Given the description of an element on the screen output the (x, y) to click on. 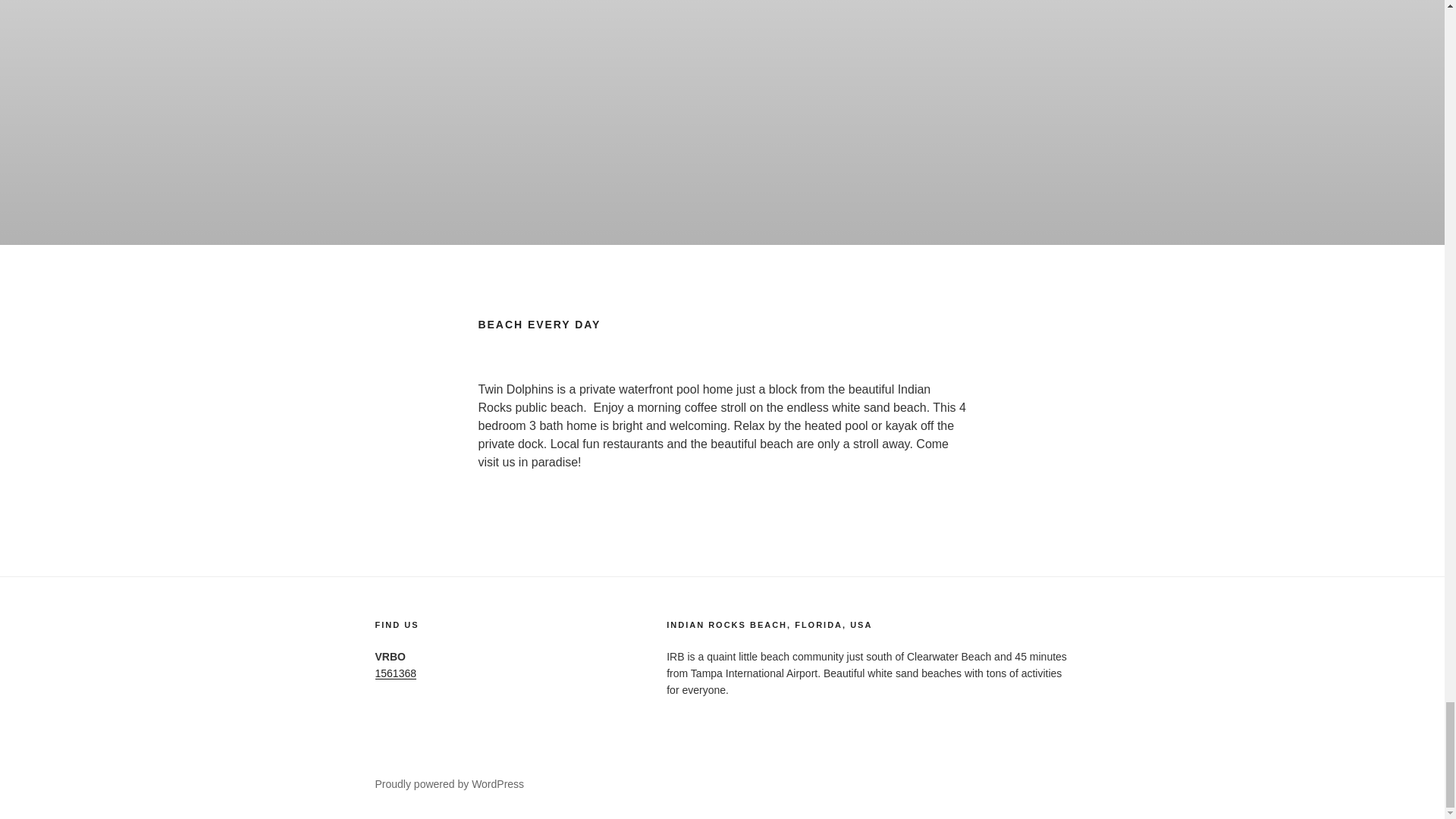
Proudly powered by WordPress (449, 784)
1561368 (395, 673)
